Given the description of an element on the screen output the (x, y) to click on. 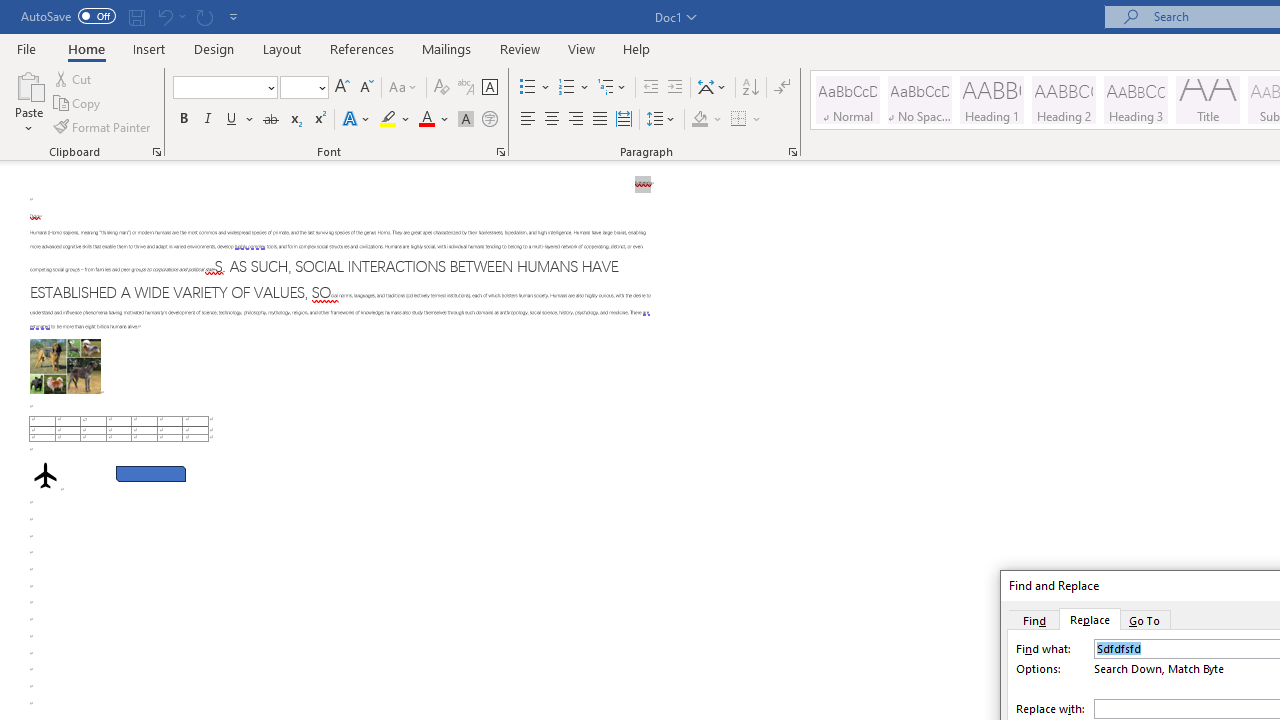
Replace (1089, 619)
